Given the description of an element on the screen output the (x, y) to click on. 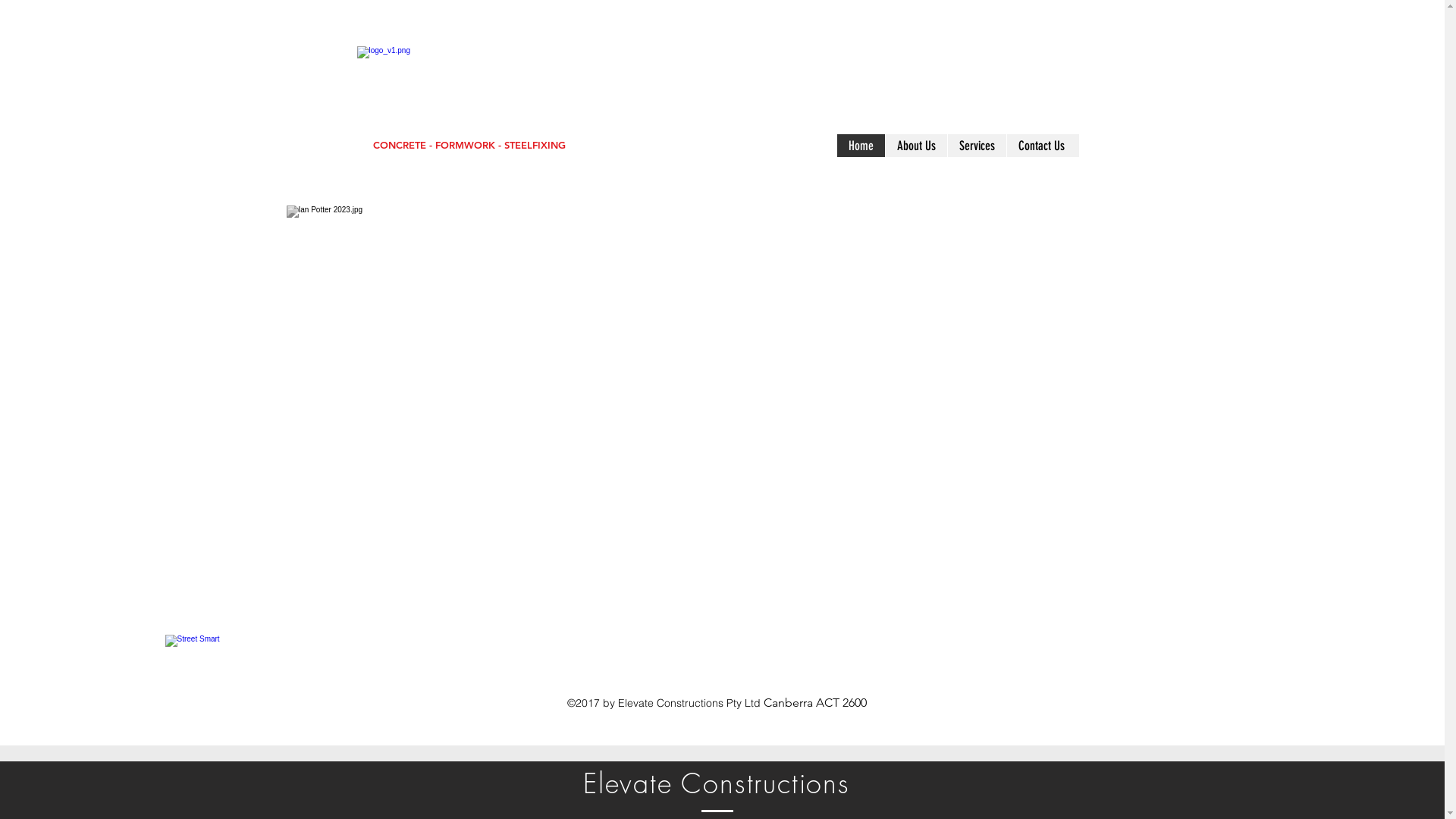
Contact Us Element type: text (1040, 145)
Services Element type: text (975, 145)
Home Element type: text (860, 145)
About Us Element type: text (915, 145)
